Given the description of an element on the screen output the (x, y) to click on. 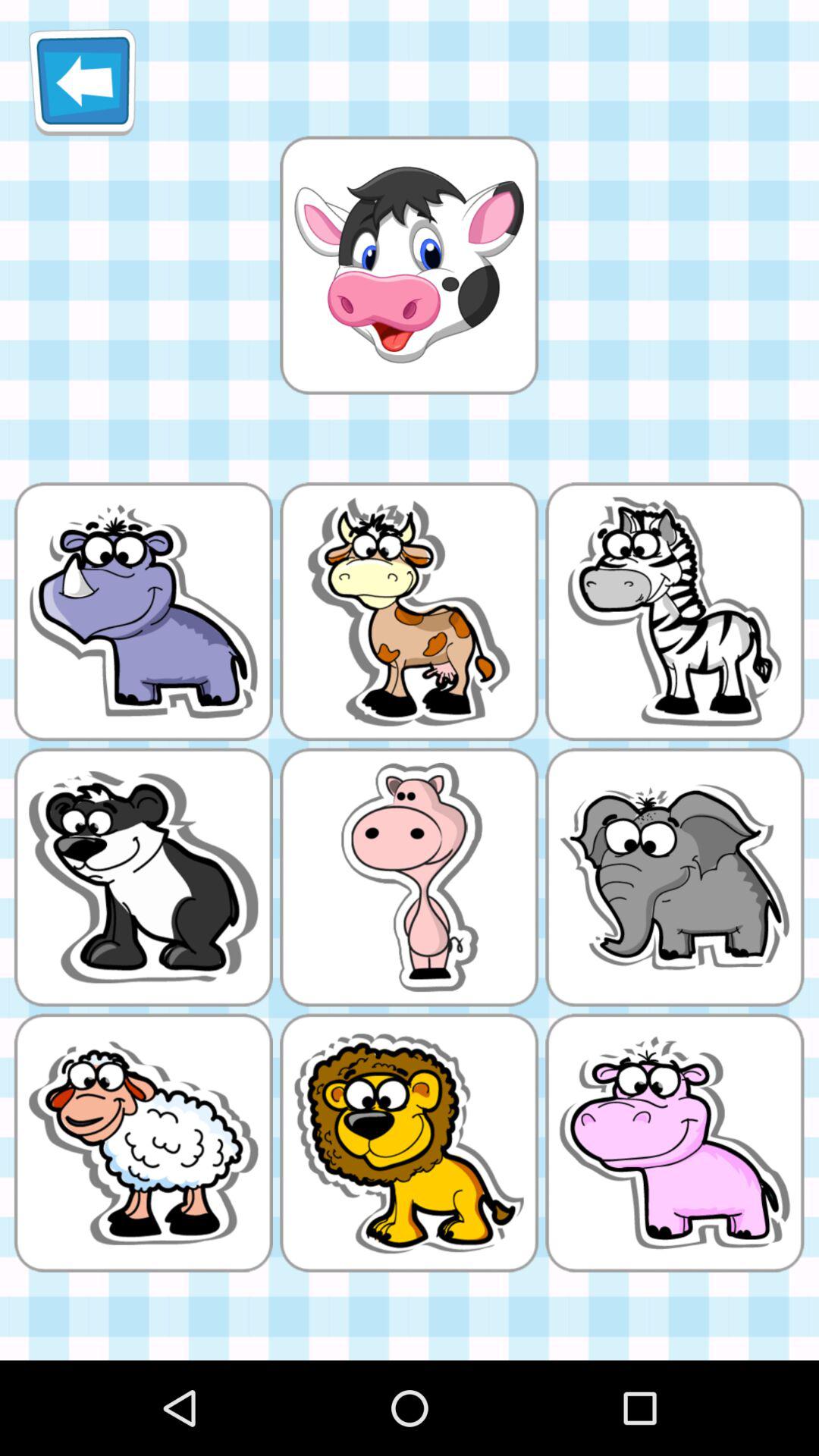
select item at the top left corner (82, 82)
